Given the description of an element on the screen output the (x, y) to click on. 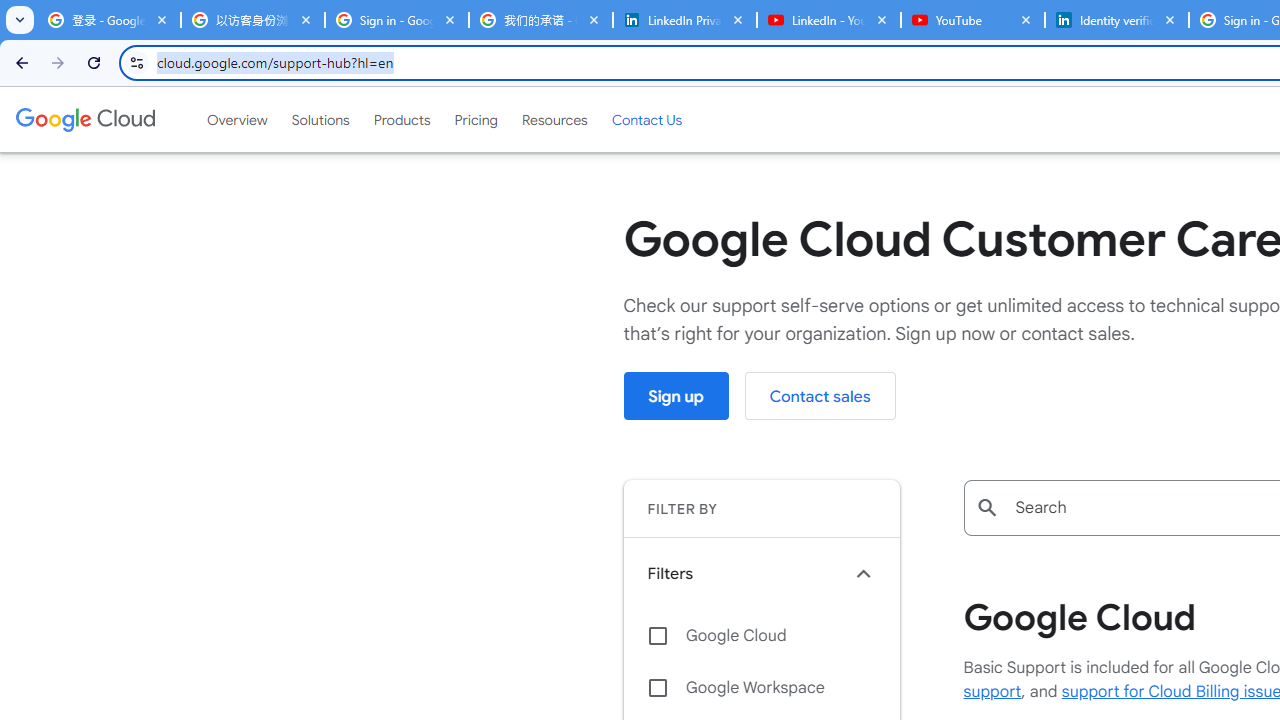
Sign up (676, 395)
Contact sales (819, 395)
LinkedIn - YouTube (828, 20)
Sign in - Google Accounts (396, 20)
Products (401, 119)
Resources (553, 119)
Google Cloud (84, 119)
Contact Us (646, 119)
